Given the description of an element on the screen output the (x, y) to click on. 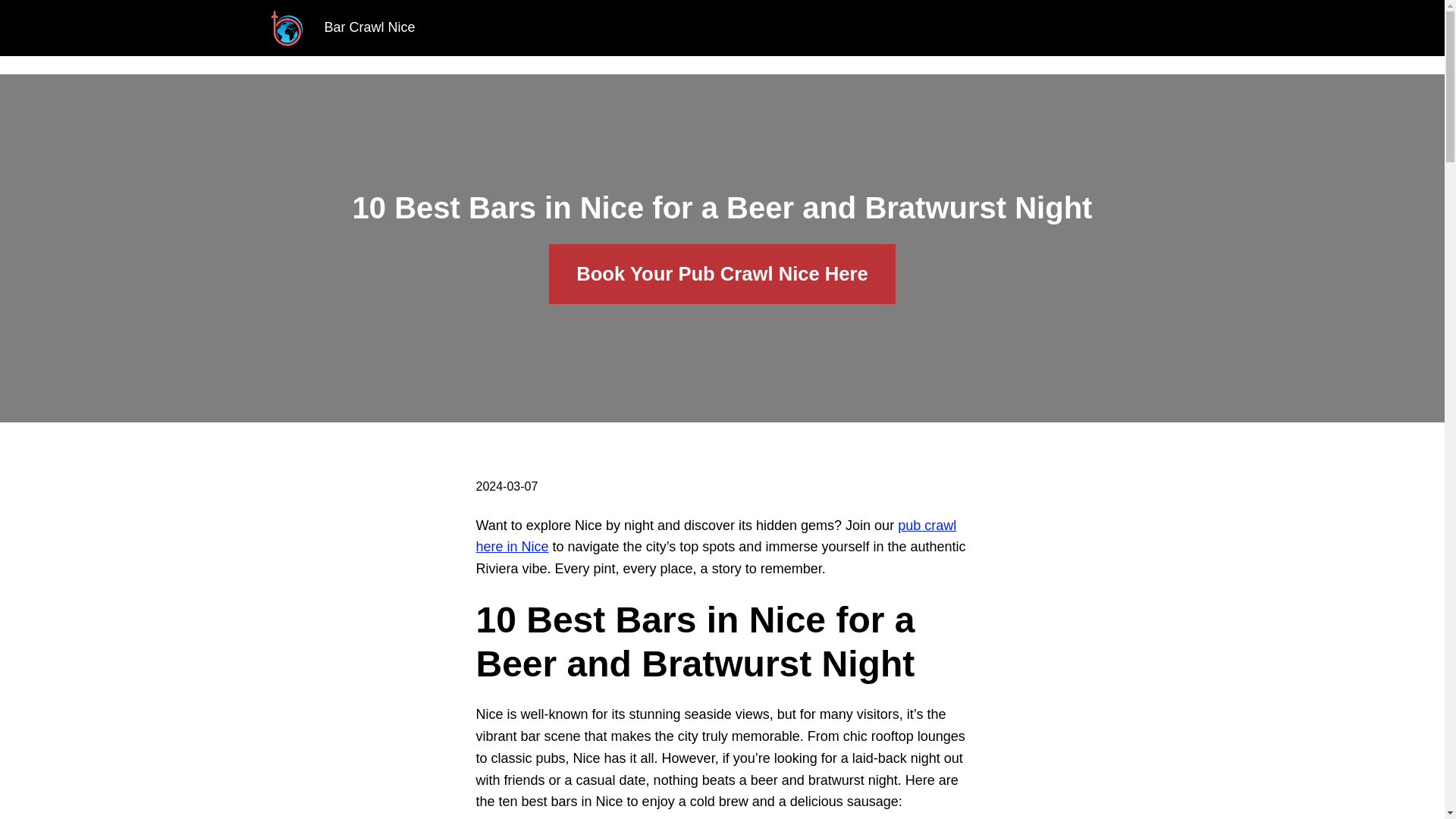
Book Your Pub Crawl Nice Here (721, 273)
Cart (818, 27)
Bar Crawl Nice (369, 27)
pub crawl here in Nice (716, 536)
Booking (753, 27)
